Given the description of an element on the screen output the (x, y) to click on. 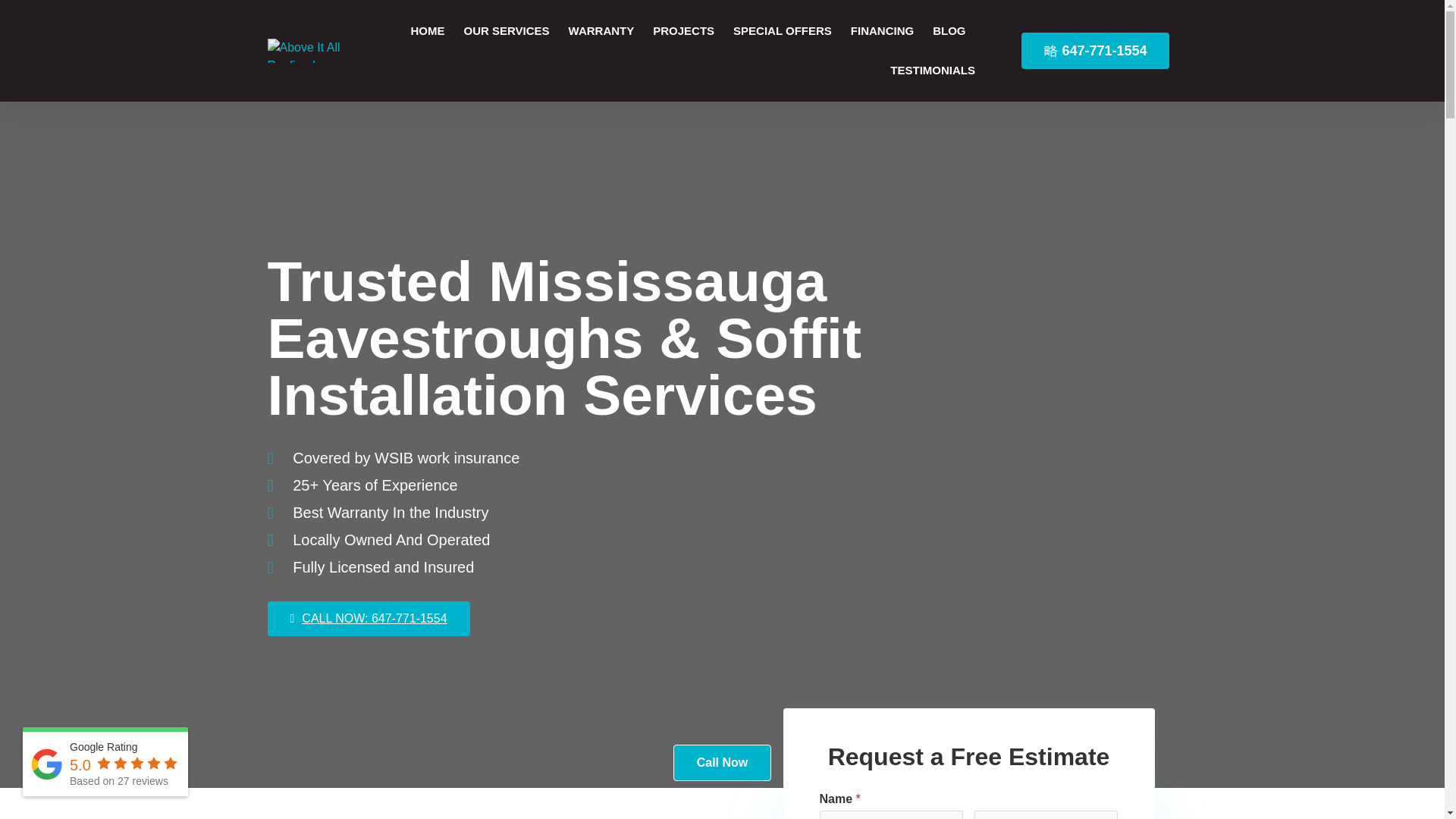
OUR SERVICES (505, 30)
